Given the description of an element on the screen output the (x, y) to click on. 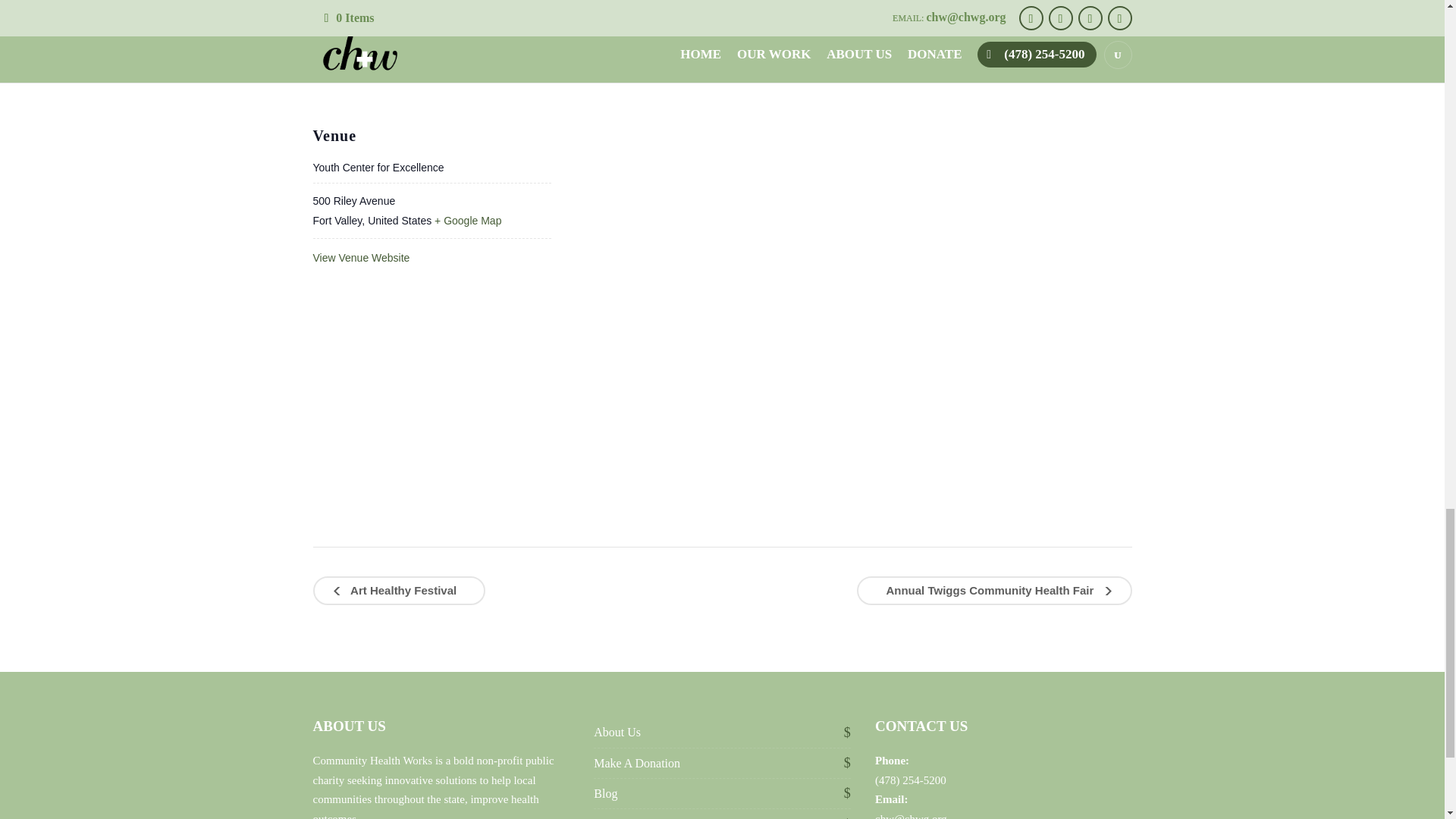
View Organizer Website (369, 47)
Make A Donation (636, 762)
Art Healthy Festival (398, 590)
Annual Twiggs Community Health Fair (994, 590)
Contact Us (620, 818)
View Venue Website (361, 257)
Blog (605, 793)
Click to view a Google Map (466, 220)
About Us (617, 731)
